Given the description of an element on the screen output the (x, y) to click on. 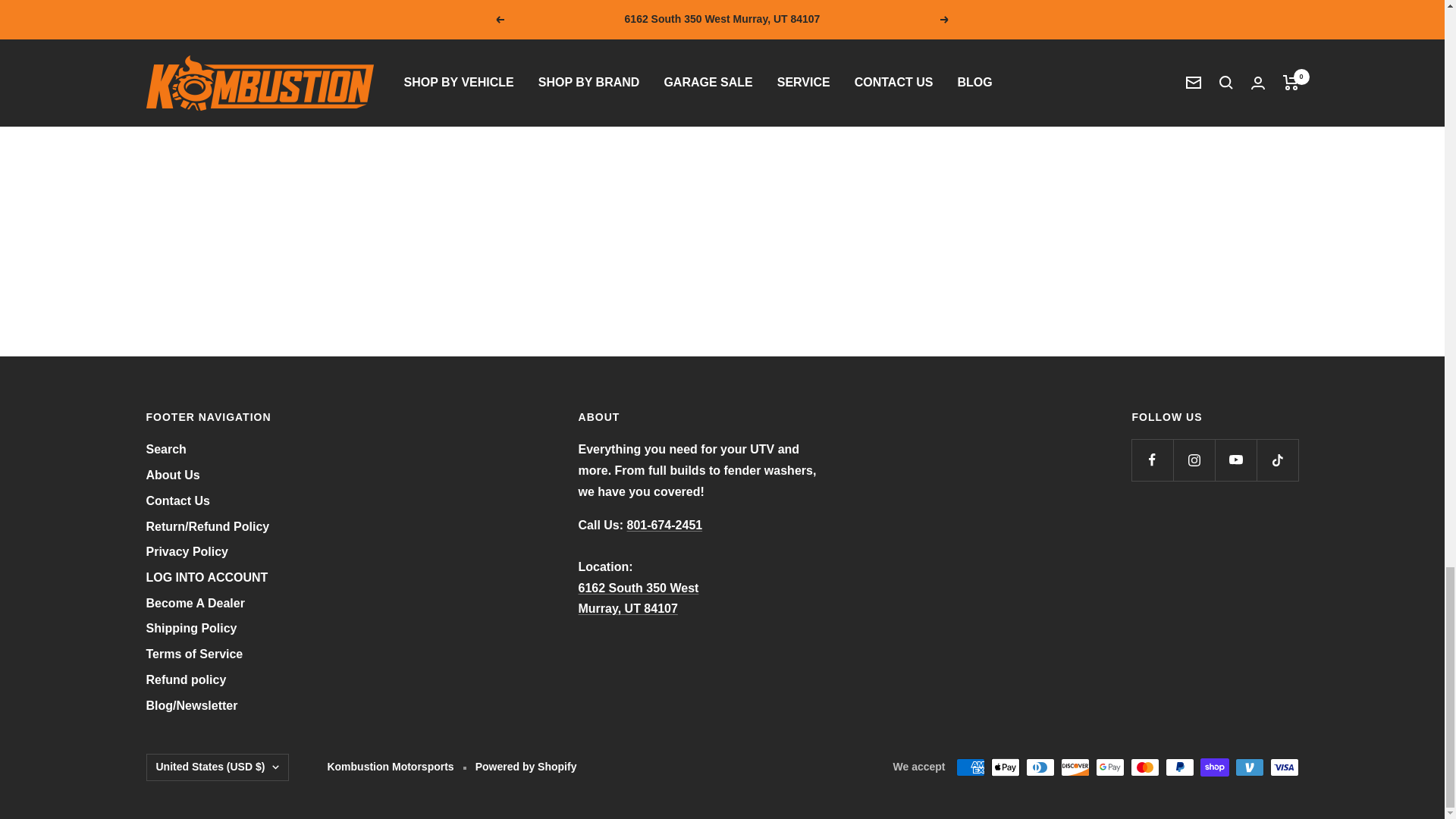
Kombustion Motorsports Address (638, 598)
tel:8016742451 (665, 524)
